Given the description of an element on the screen output the (x, y) to click on. 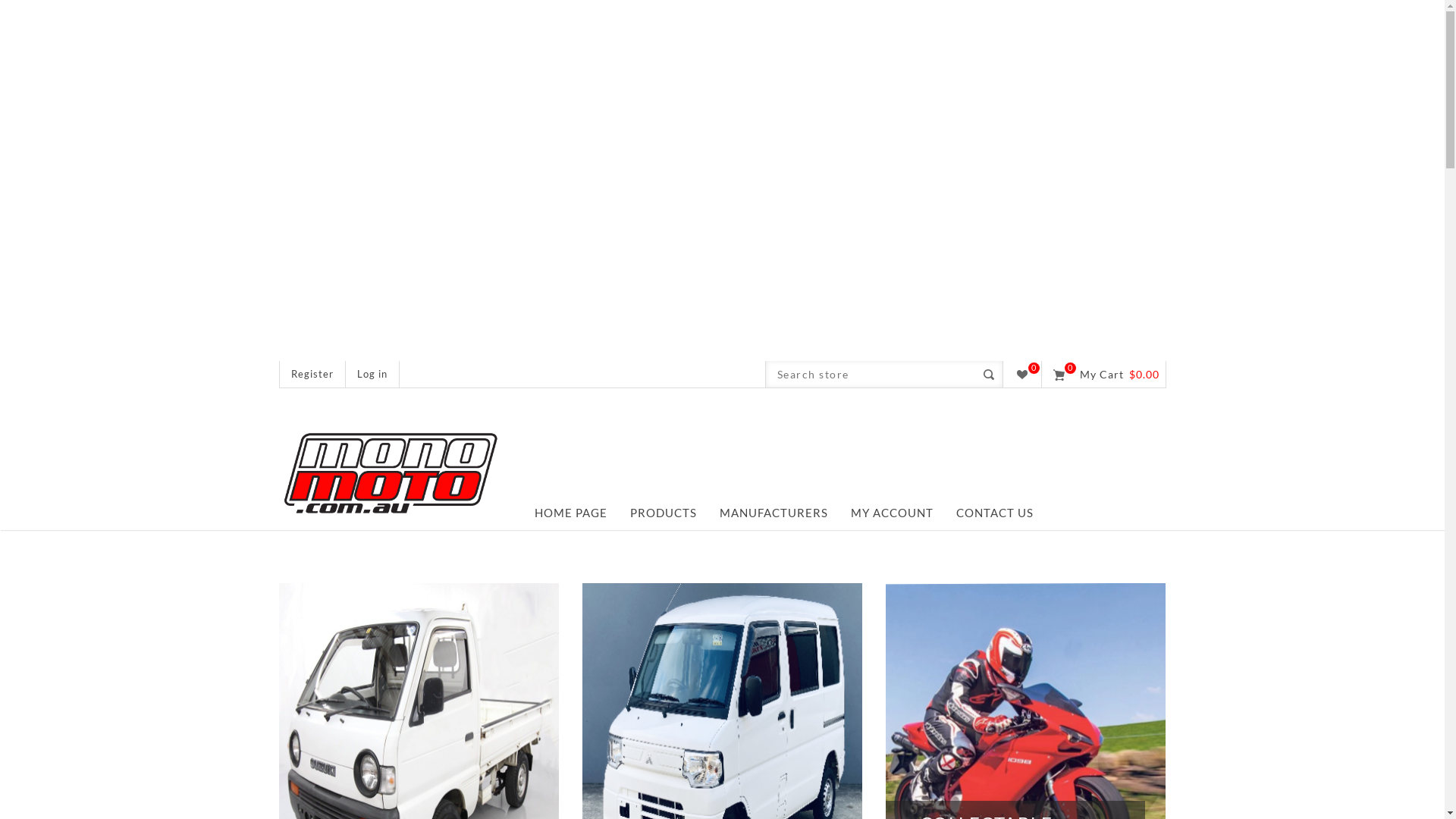
Log in Element type: text (371, 373)
HOME PAGE Element type: text (570, 512)
0 Element type: text (1021, 373)
0
My Cart $0.00 Element type: text (1103, 373)
MANUFACTURERS Element type: text (773, 512)
Search Element type: text (988, 373)
Register Element type: text (311, 373)
CONTACT US Element type: text (994, 512)
MY ACCOUNT Element type: text (891, 512)
